Given the description of an element on the screen output the (x, y) to click on. 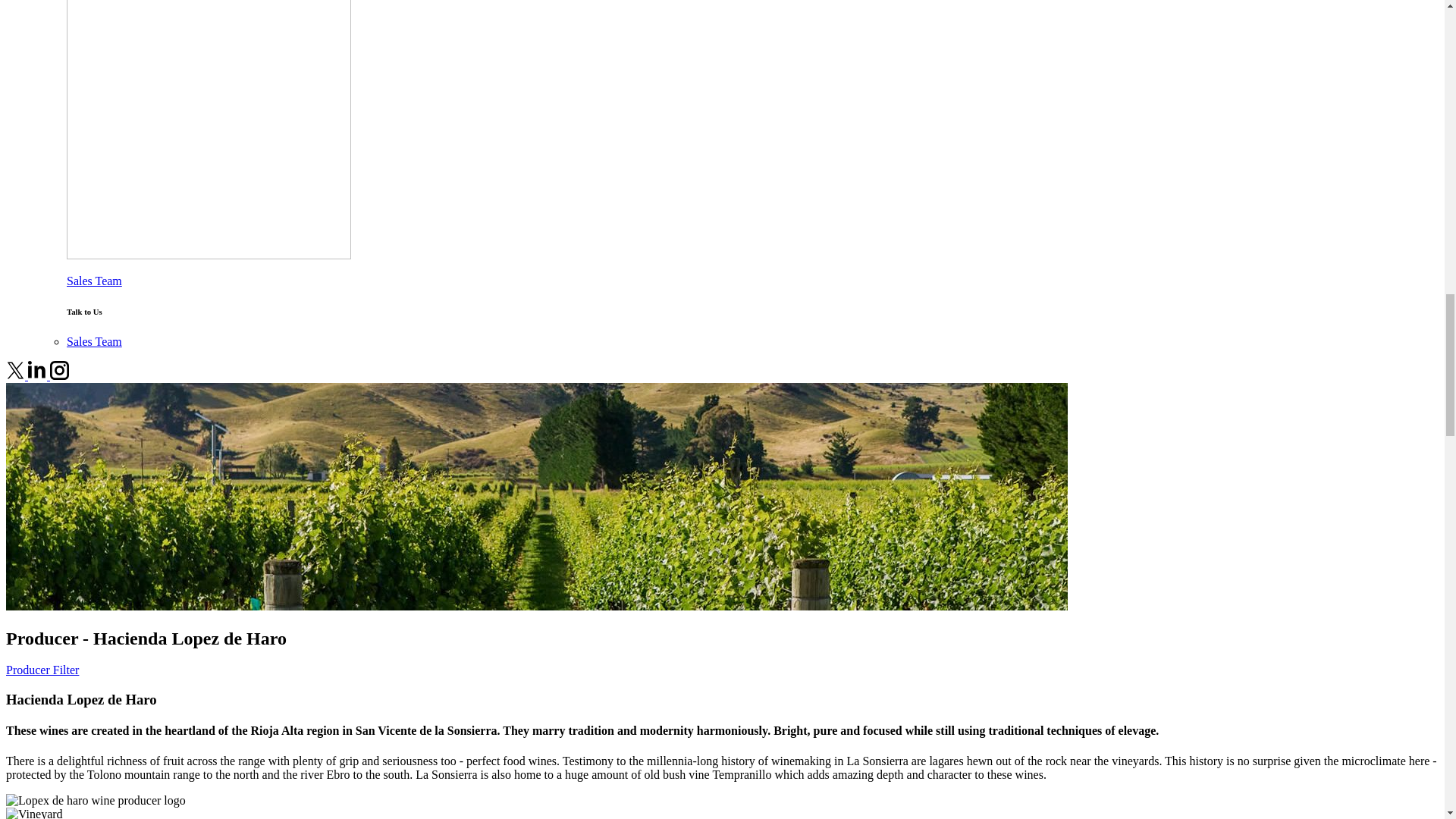
Twitter (16, 375)
Instagram (58, 370)
Twitter (14, 370)
Sales Team (94, 341)
Instagram (58, 375)
LinkedIn (36, 370)
Producer Filter (41, 669)
LinkedIn (38, 375)
